Given the description of an element on the screen output the (x, y) to click on. 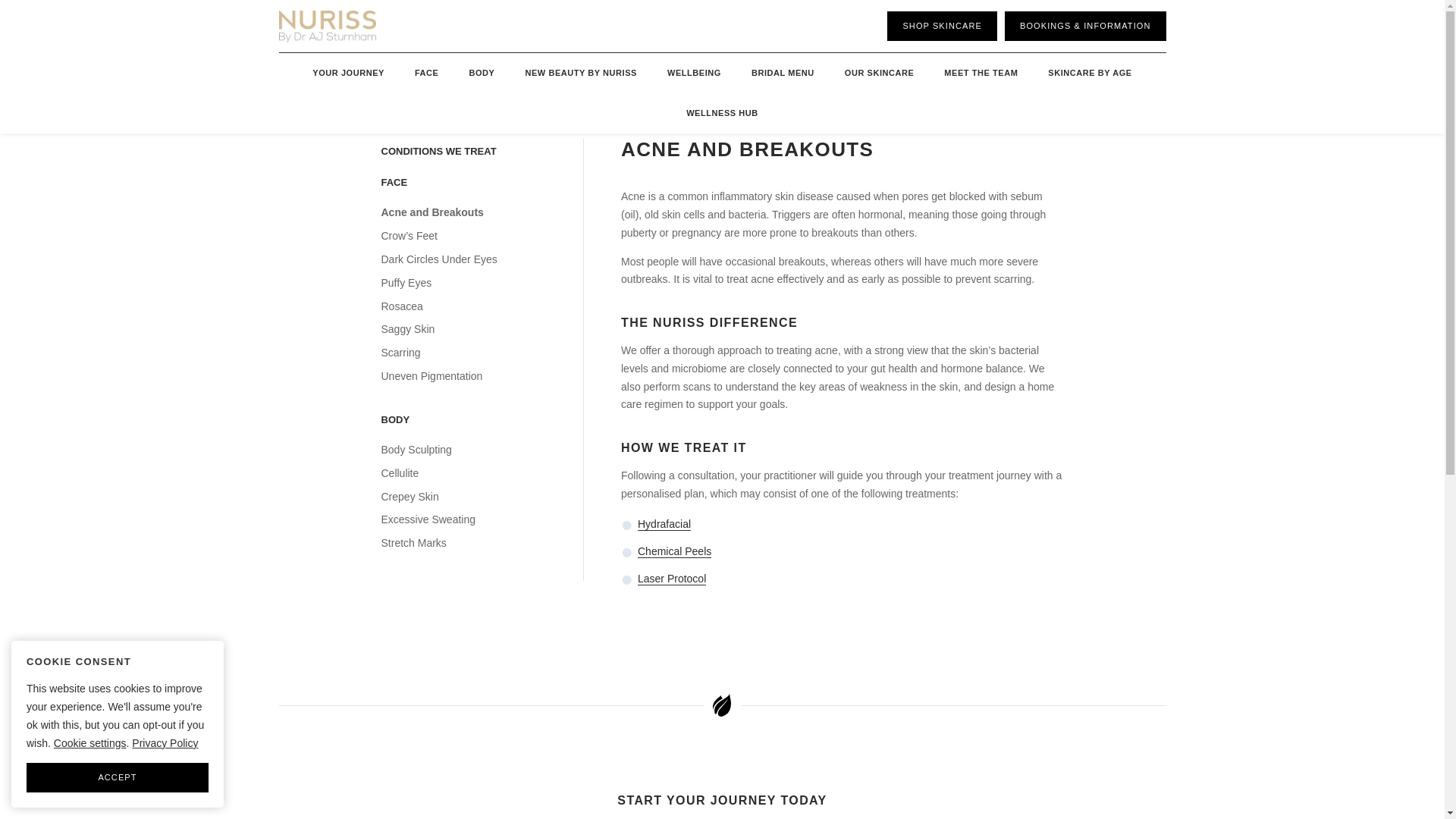
SHOP SKINCARE (941, 25)
YOUR JOURNEY (347, 73)
FACE (426, 73)
BODY (480, 73)
